Given the description of an element on the screen output the (x, y) to click on. 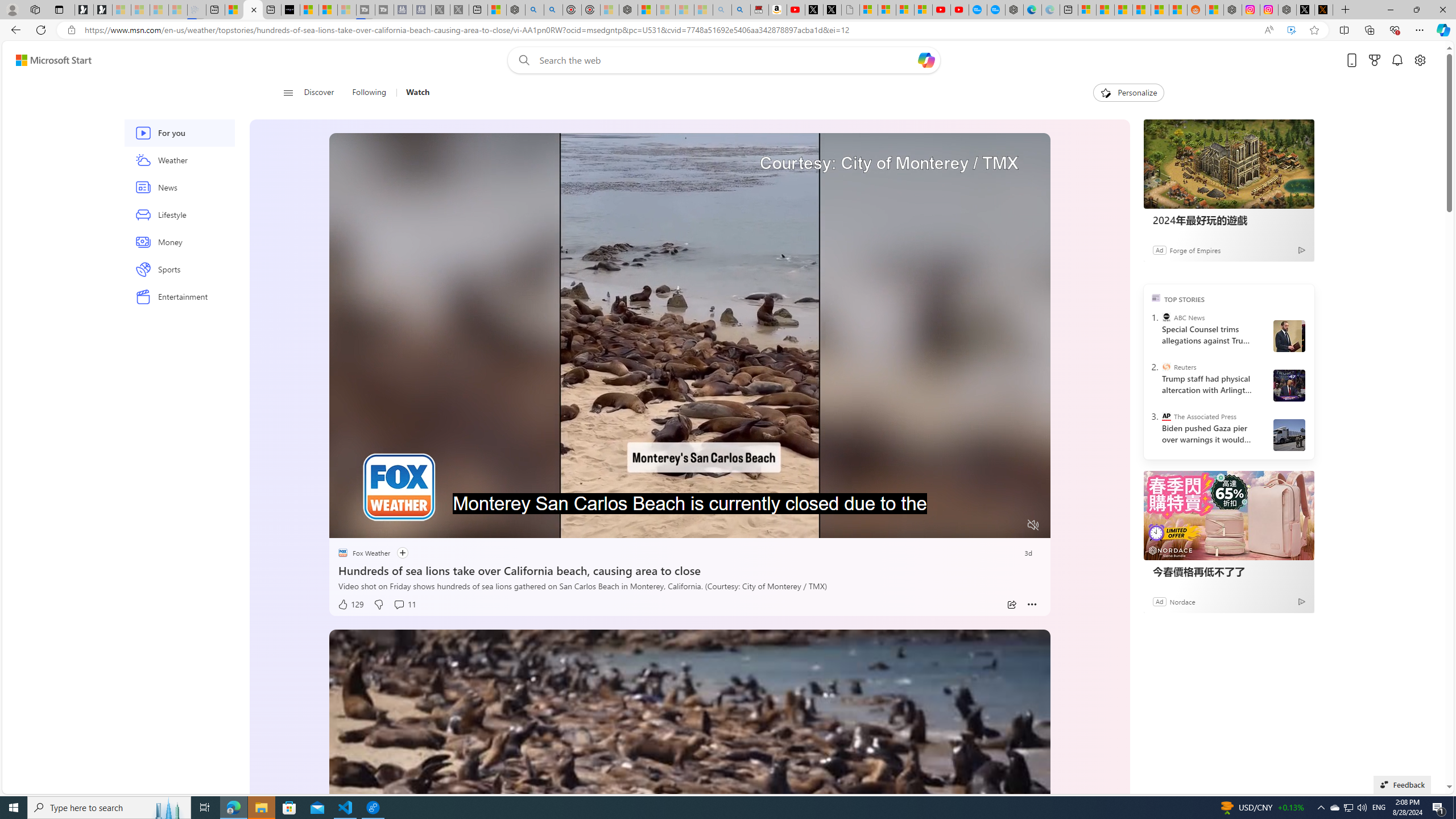
View comments 11 Comment (404, 604)
Reuters (1165, 366)
Amazon Echo Dot PNG - Search Images (740, 9)
